Given the description of an element on the screen output the (x, y) to click on. 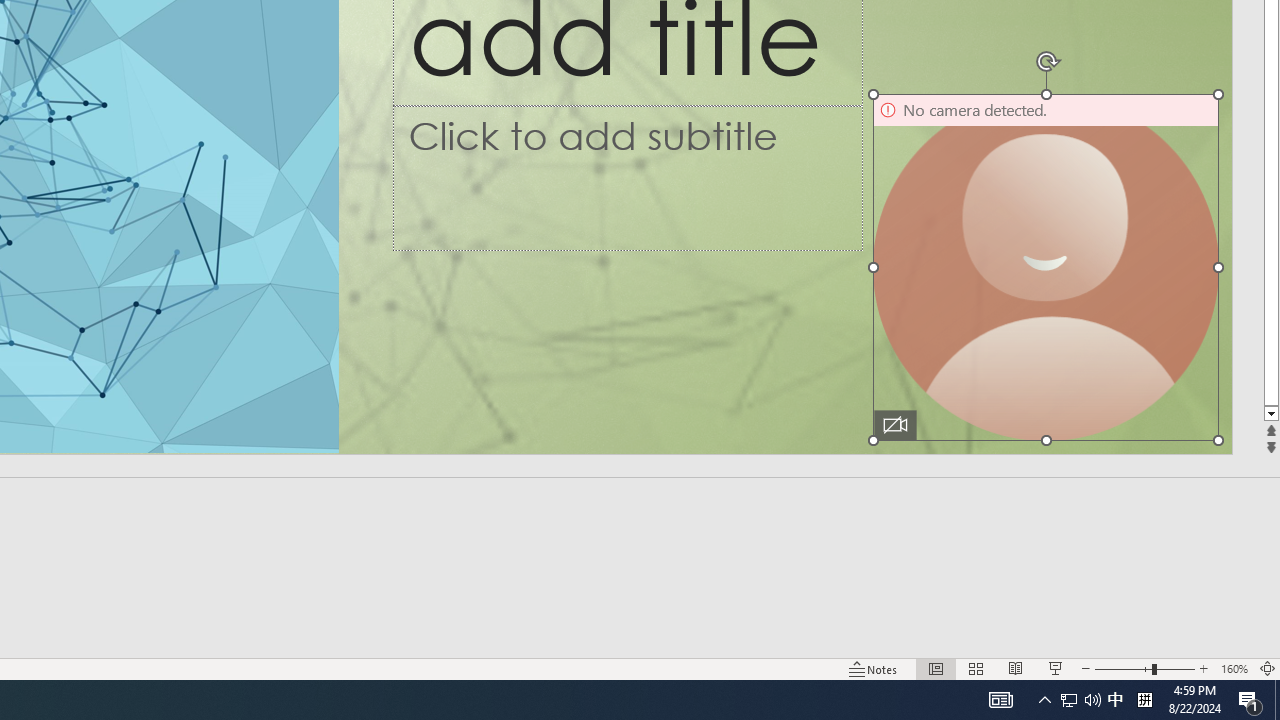
Zoom 160% (1234, 668)
